Given the description of an element on the screen output the (x, y) to click on. 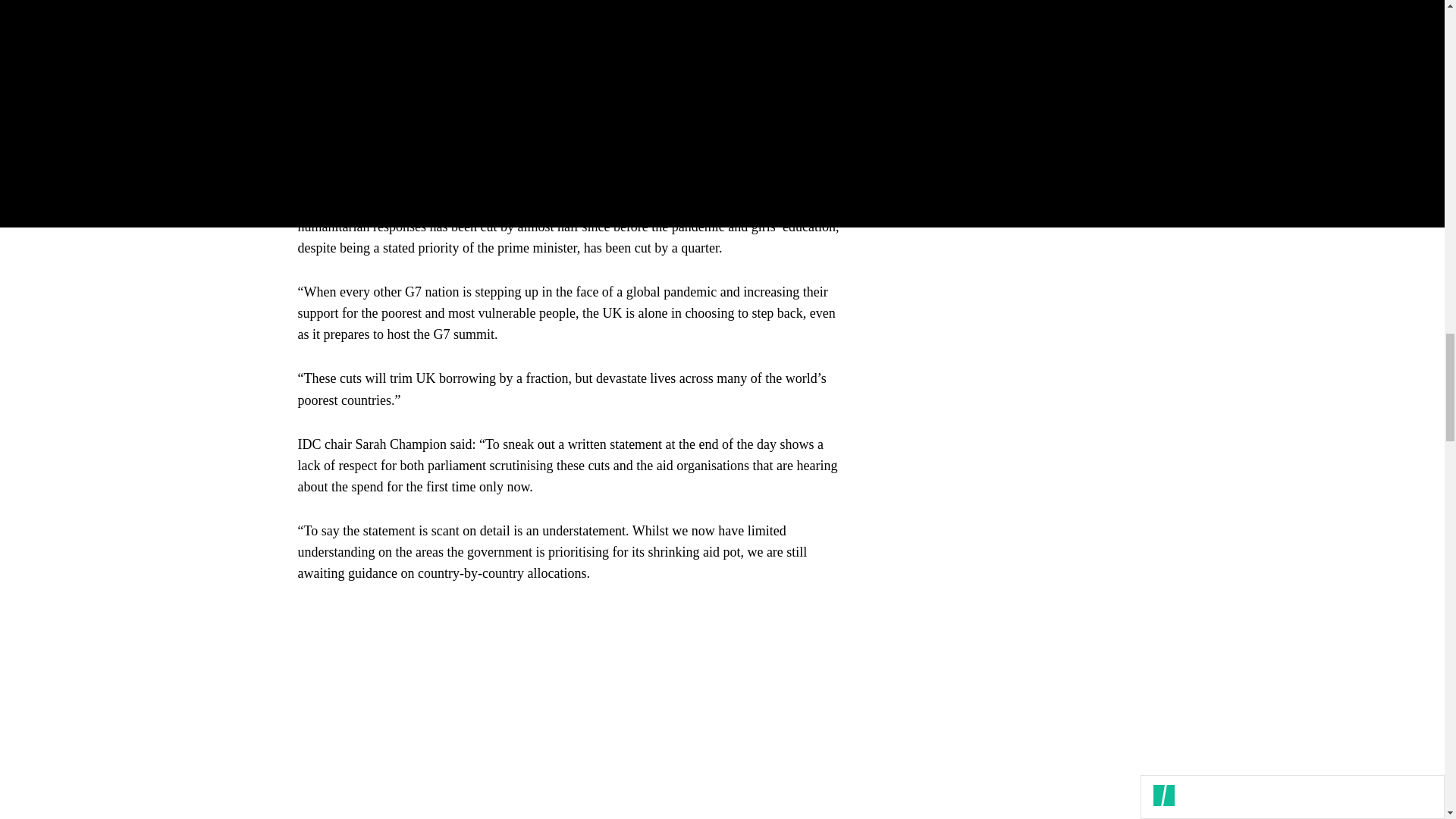
SIGN UP (1098, 103)
